Given the description of an element on the screen output the (x, y) to click on. 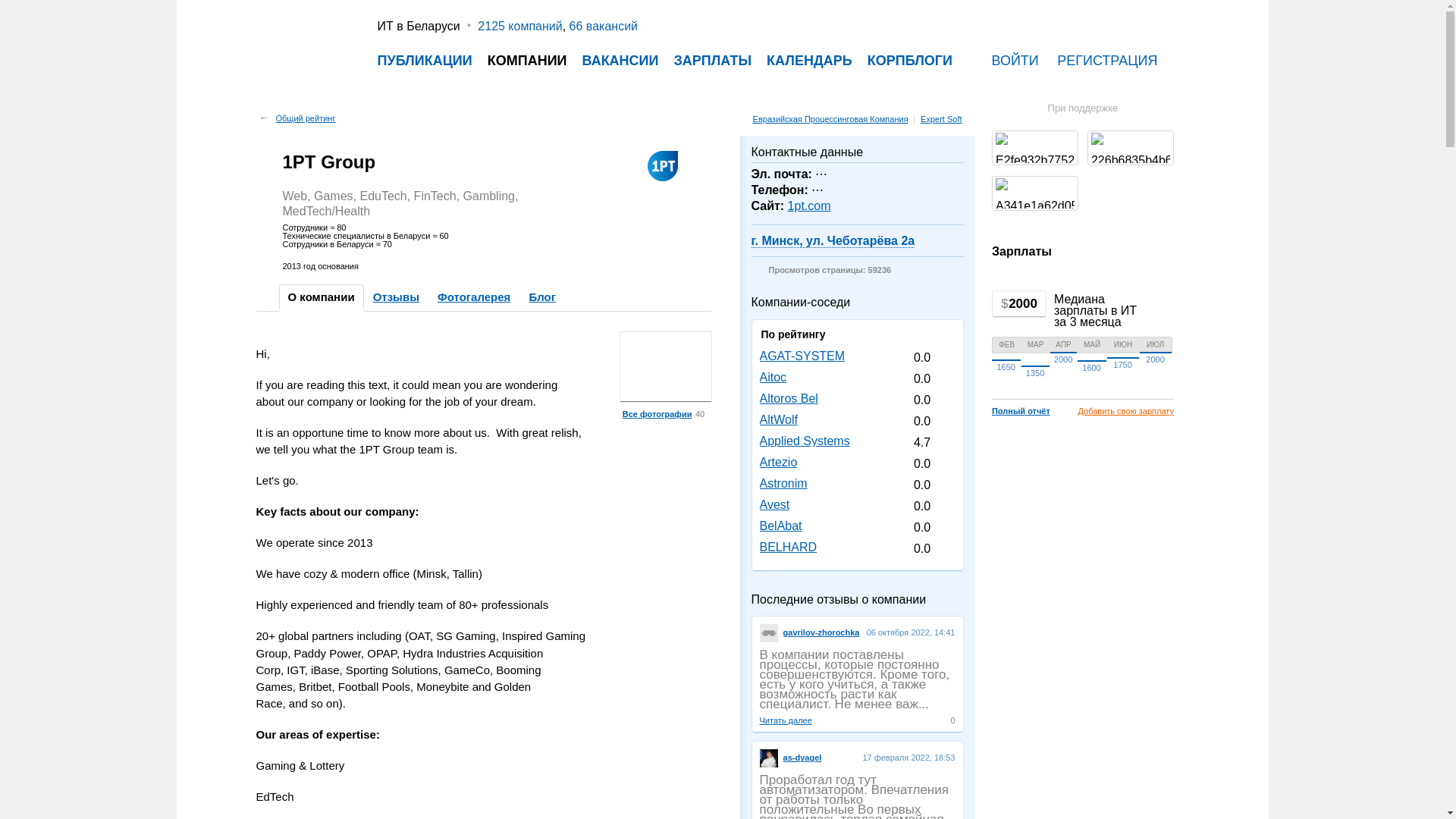
Expert Soft (946, 118)
